Given the description of an element on the screen output the (x, y) to click on. 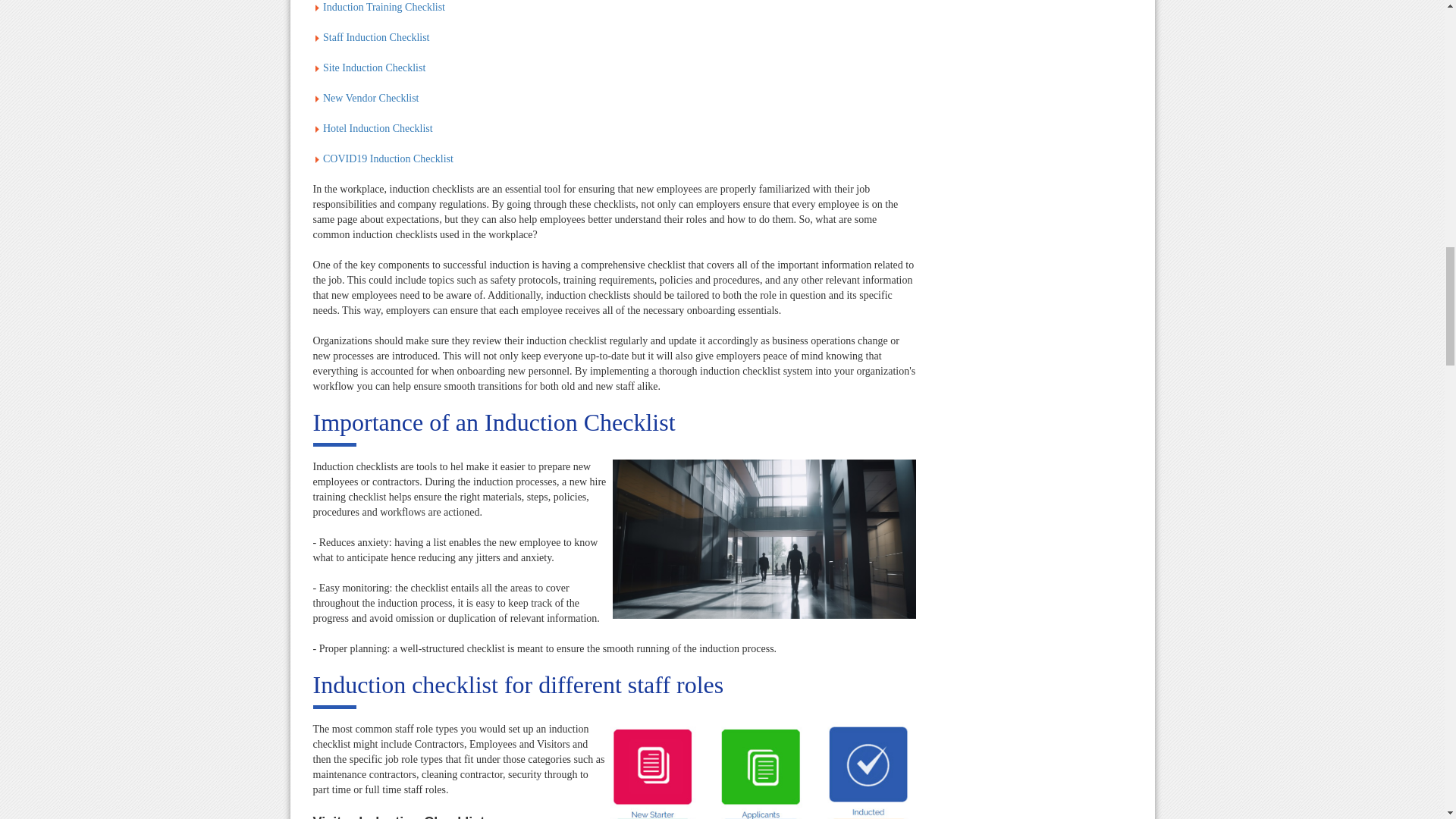
New Vendor Checklist (371, 98)
Staff Induction Checklist (376, 37)
Hotel Induction Checklist (377, 128)
Site Induction Checklist (374, 67)
Induction Training Checklist (384, 7)
COVID19 Induction Checklist (387, 158)
